Given the description of an element on the screen output the (x, y) to click on. 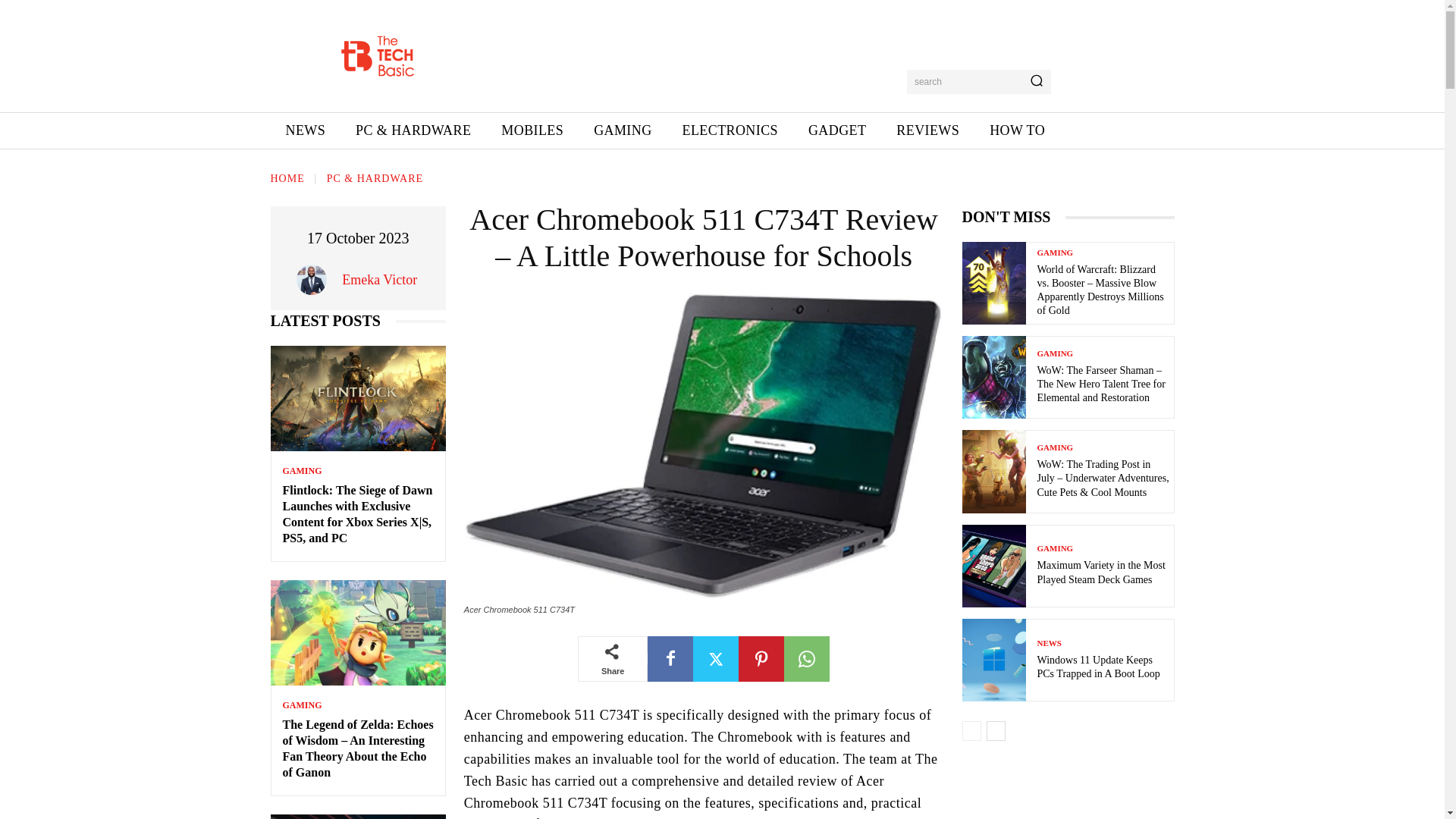
MOBILES (532, 130)
Emeka Victor (379, 279)
NEWS (304, 130)
GAMING (622, 130)
HOW TO (1016, 130)
GAMING (301, 470)
GADGET (836, 130)
ELECTRONICS (729, 130)
GAMING (301, 705)
HOME (286, 178)
Emeka Victor (315, 279)
REVIEWS (927, 130)
